Given the description of an element on the screen output the (x, y) to click on. 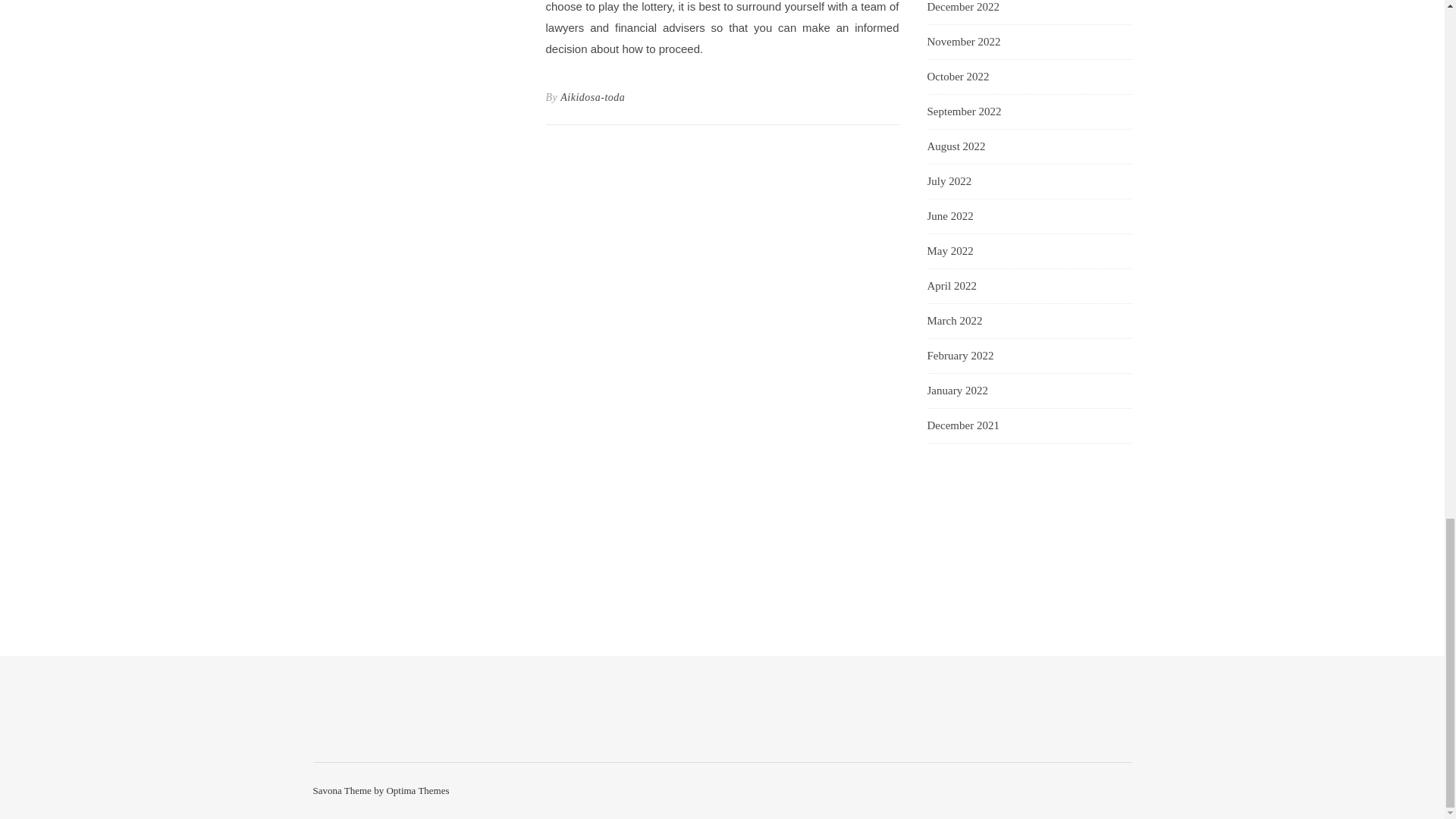
Aikidosa-toda (592, 97)
Posts by Aikidosa-toda (592, 97)
